Given the description of an element on the screen output the (x, y) to click on. 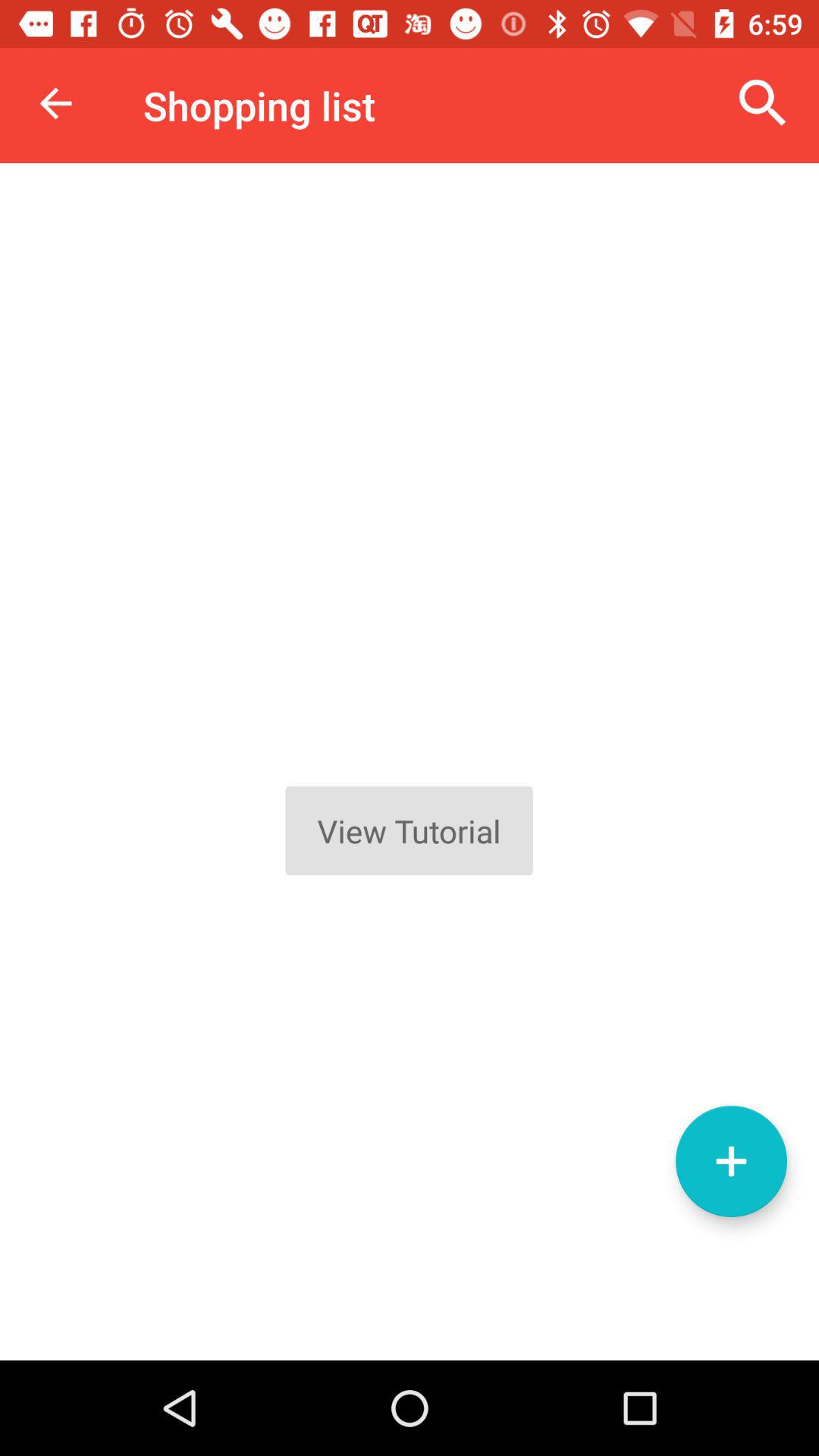
a place to add an item to a shopping list (731, 1161)
